Given the description of an element on the screen output the (x, y) to click on. 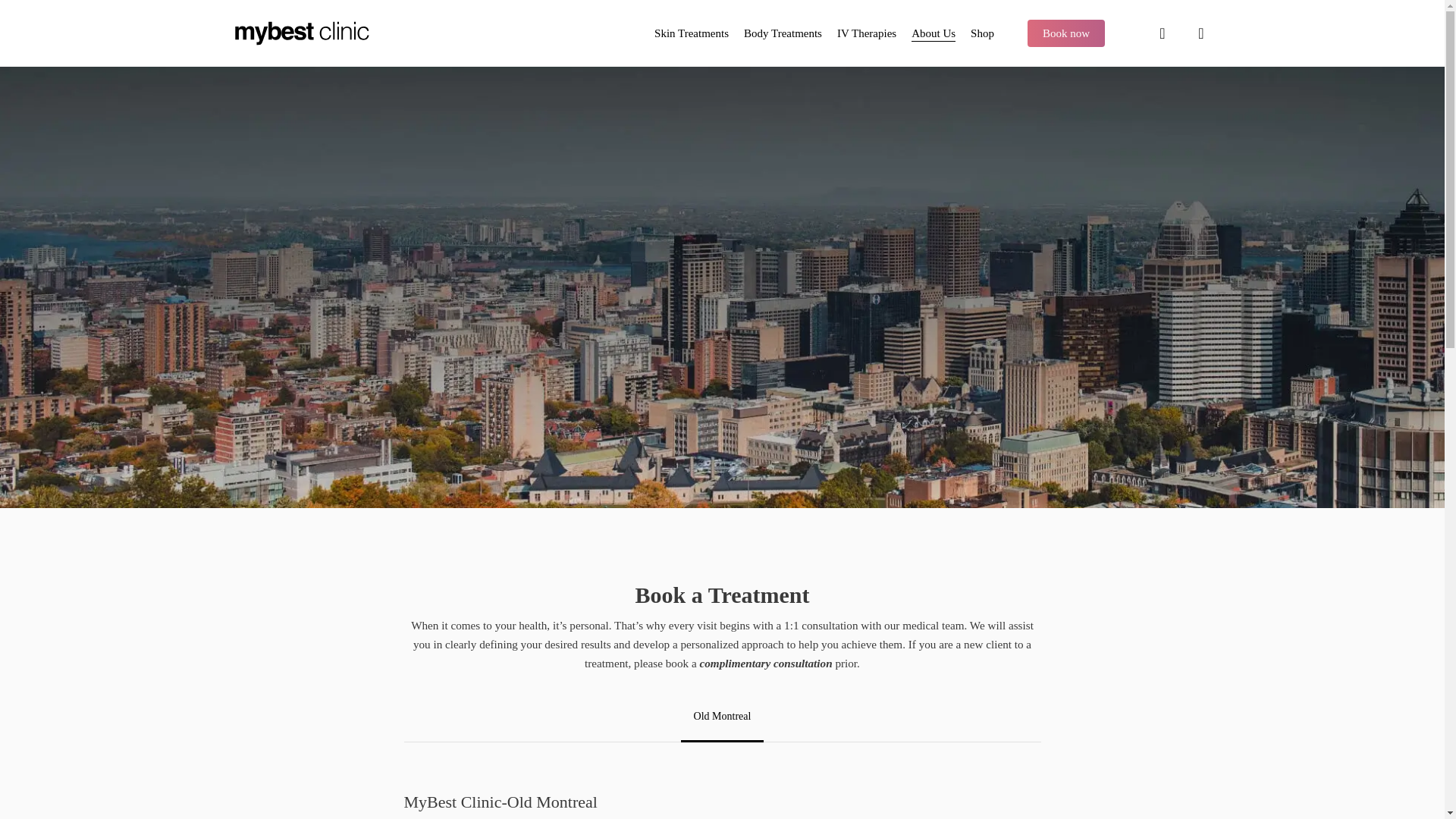
About Us (933, 33)
Old Montreal (722, 716)
Body Treatments (783, 33)
IV Therapies (866, 33)
Book now (1065, 33)
Skin Treatments (691, 33)
search (1162, 33)
Shop (982, 33)
